Given the description of an element on the screen output the (x, y) to click on. 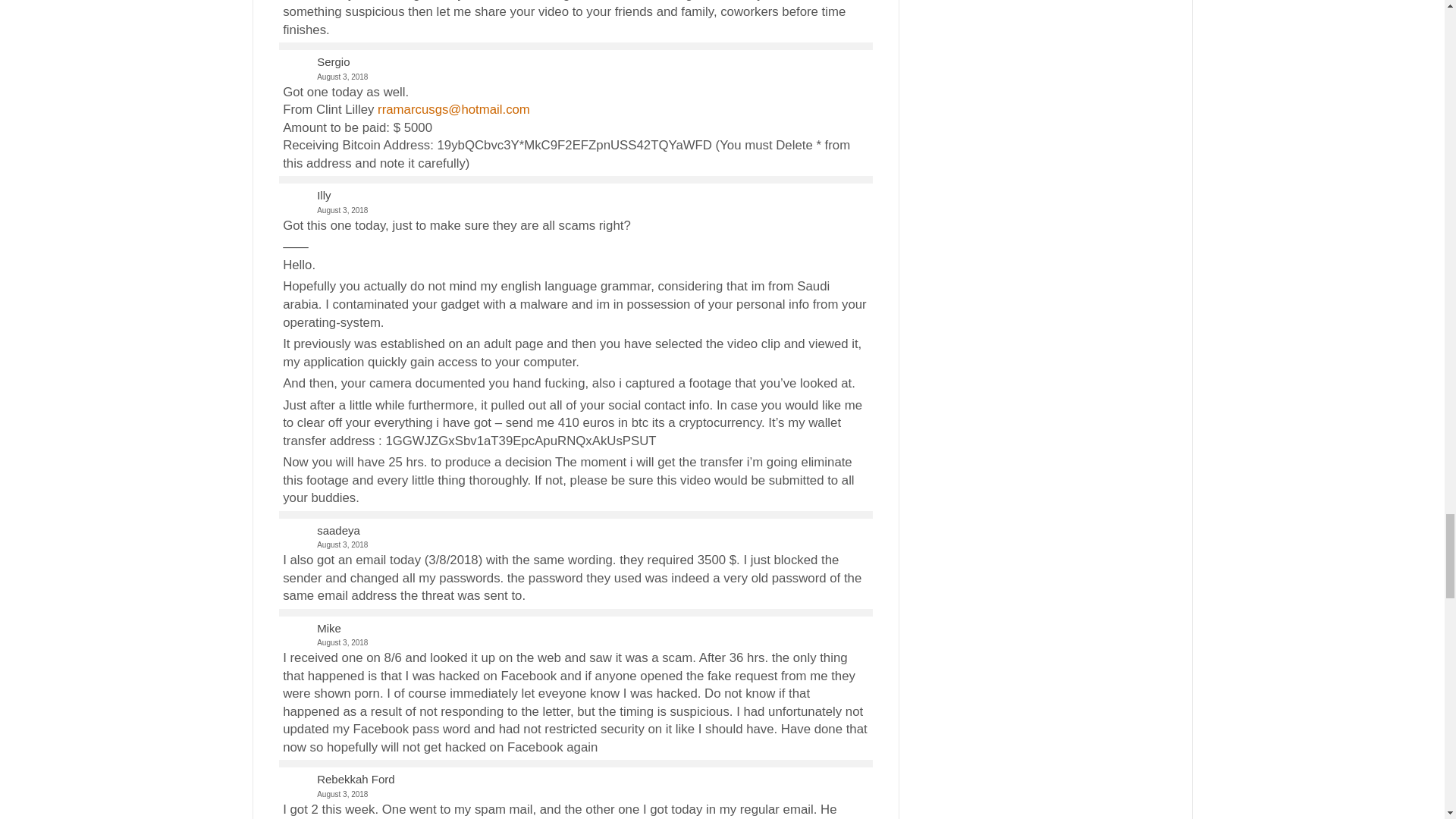
August 3, 2018 (574, 210)
August 3, 2018 (574, 76)
August 3, 2018 (574, 544)
